Given the description of an element on the screen output the (x, y) to click on. 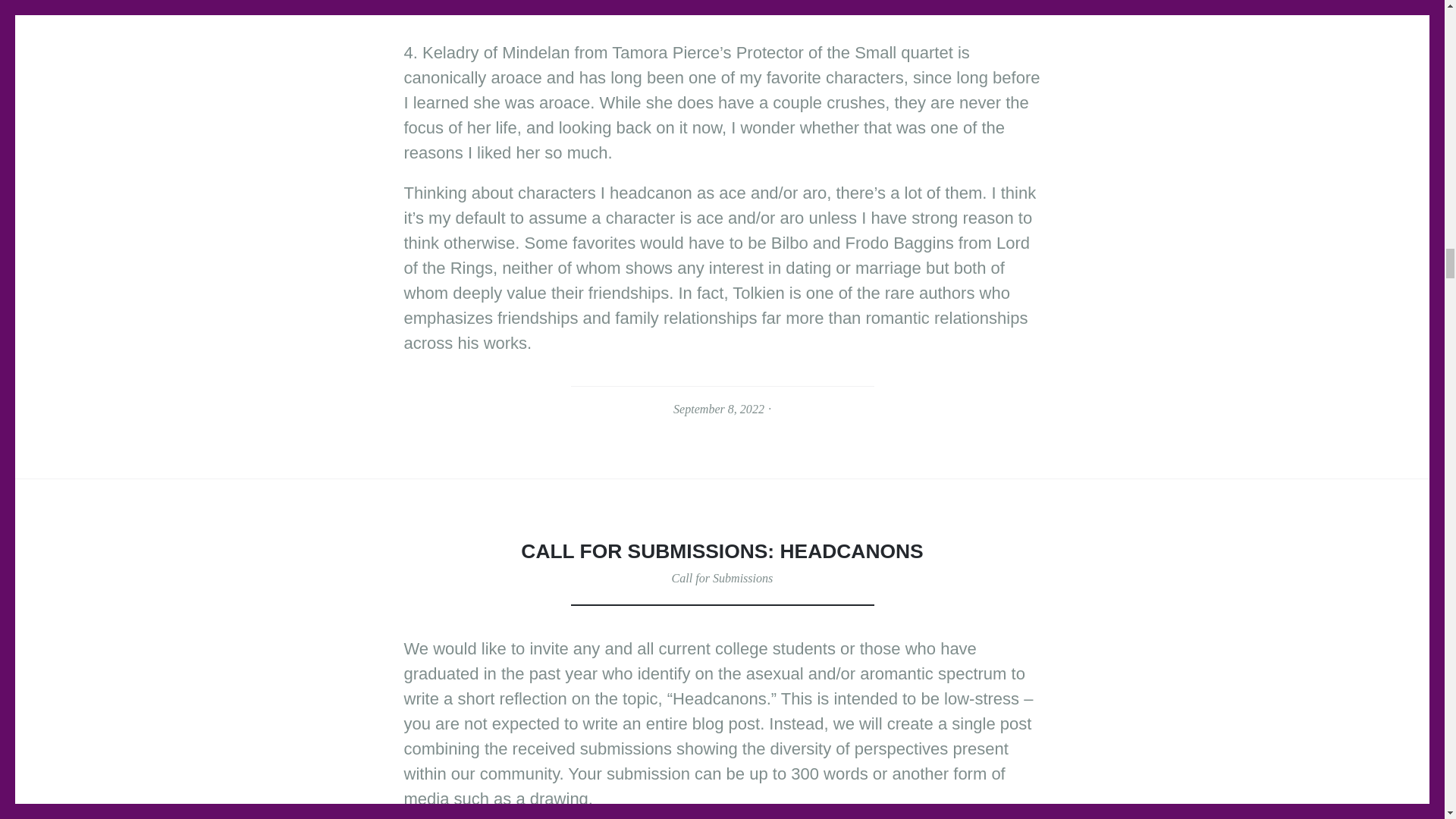
CALL FOR SUBMISSIONS: HEADCANONS (722, 550)
September 8, 2022 (718, 408)
Call for Submissions (722, 577)
